Given the description of an element on the screen output the (x, y) to click on. 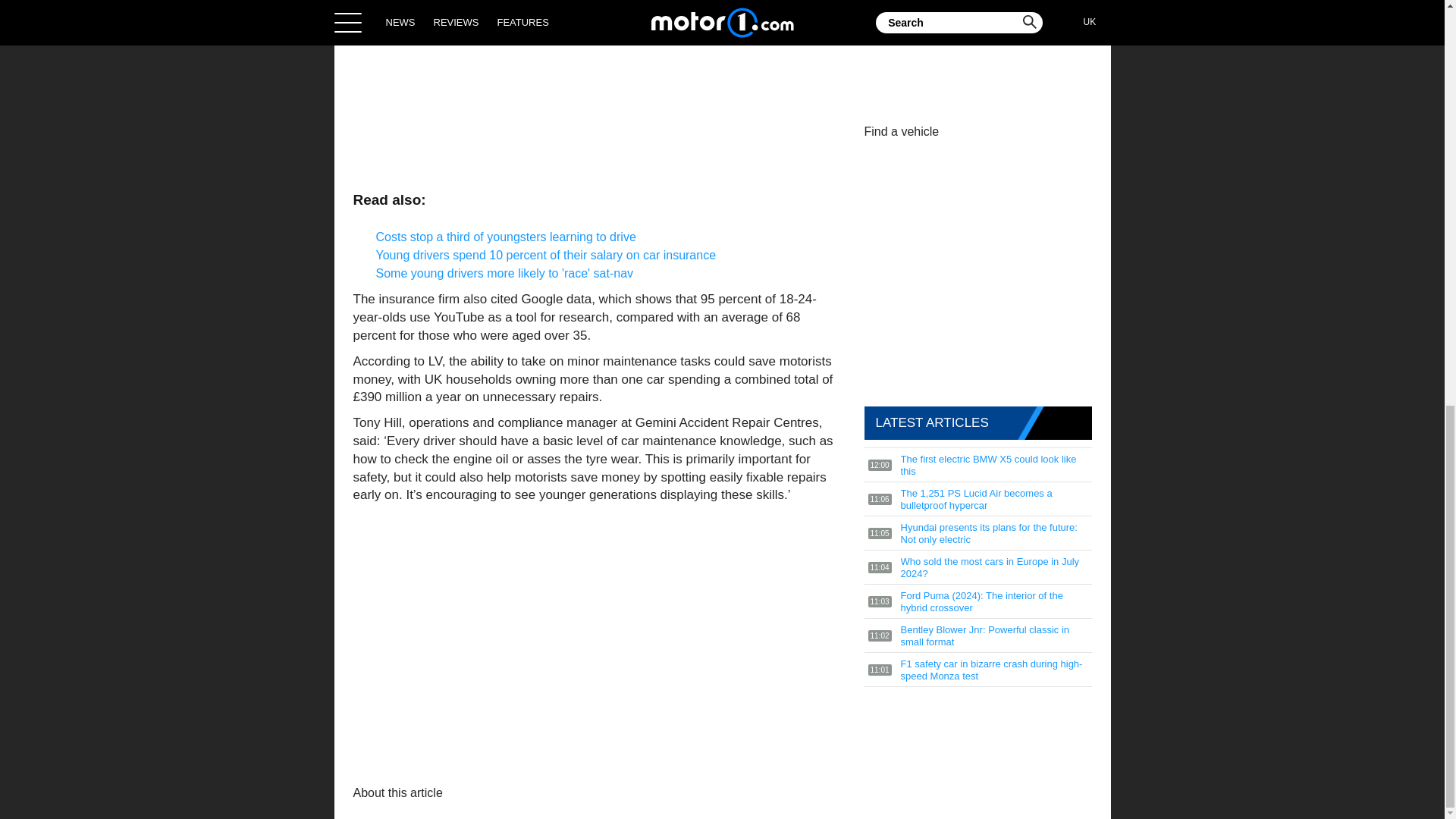
Some young drivers more likely to 'race' sat-nav (504, 273)
Costs stop a third of youngsters learning to drive (505, 236)
